Given the description of an element on the screen output the (x, y) to click on. 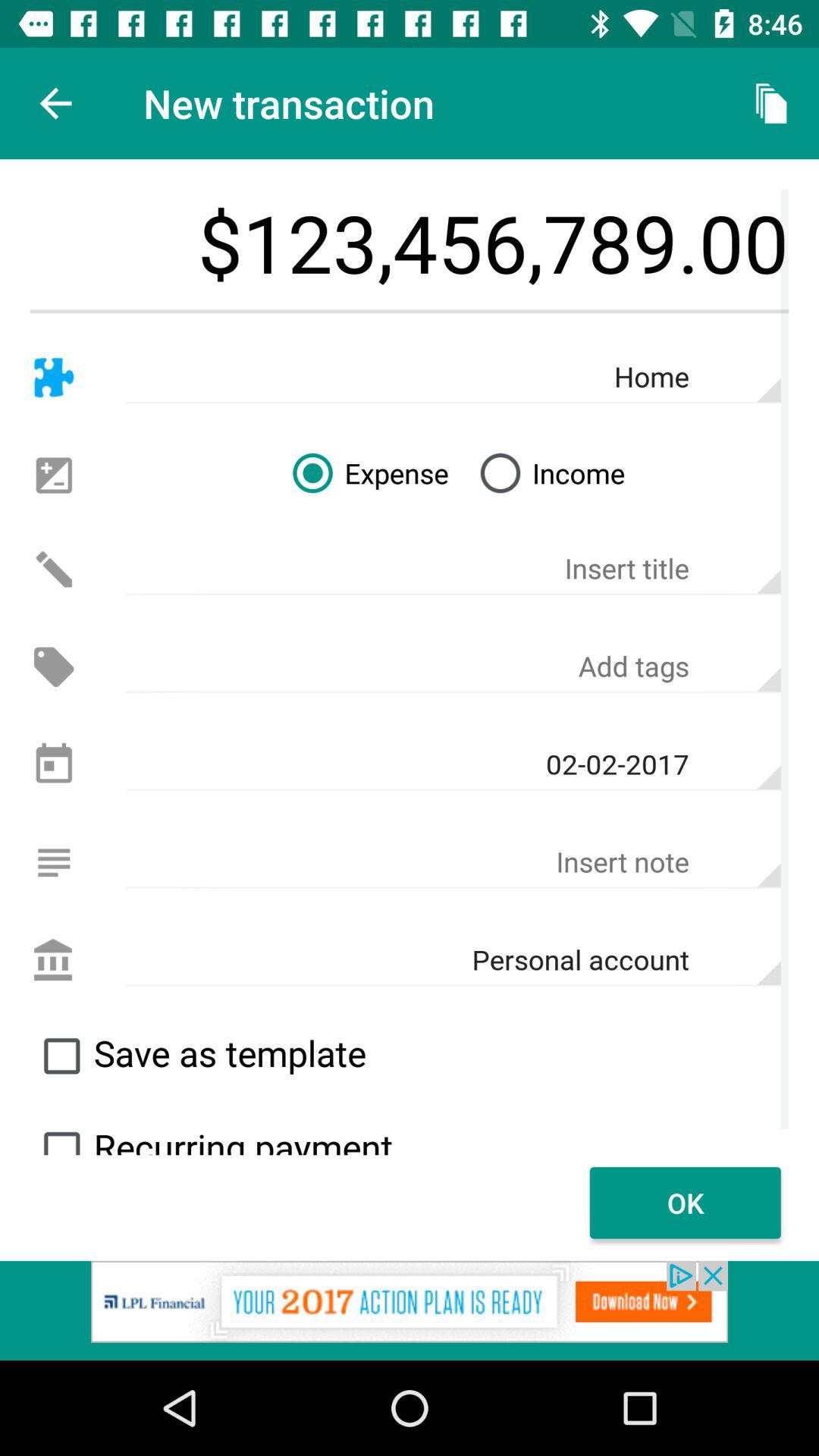
insert note (452, 862)
